Given the description of an element on the screen output the (x, y) to click on. 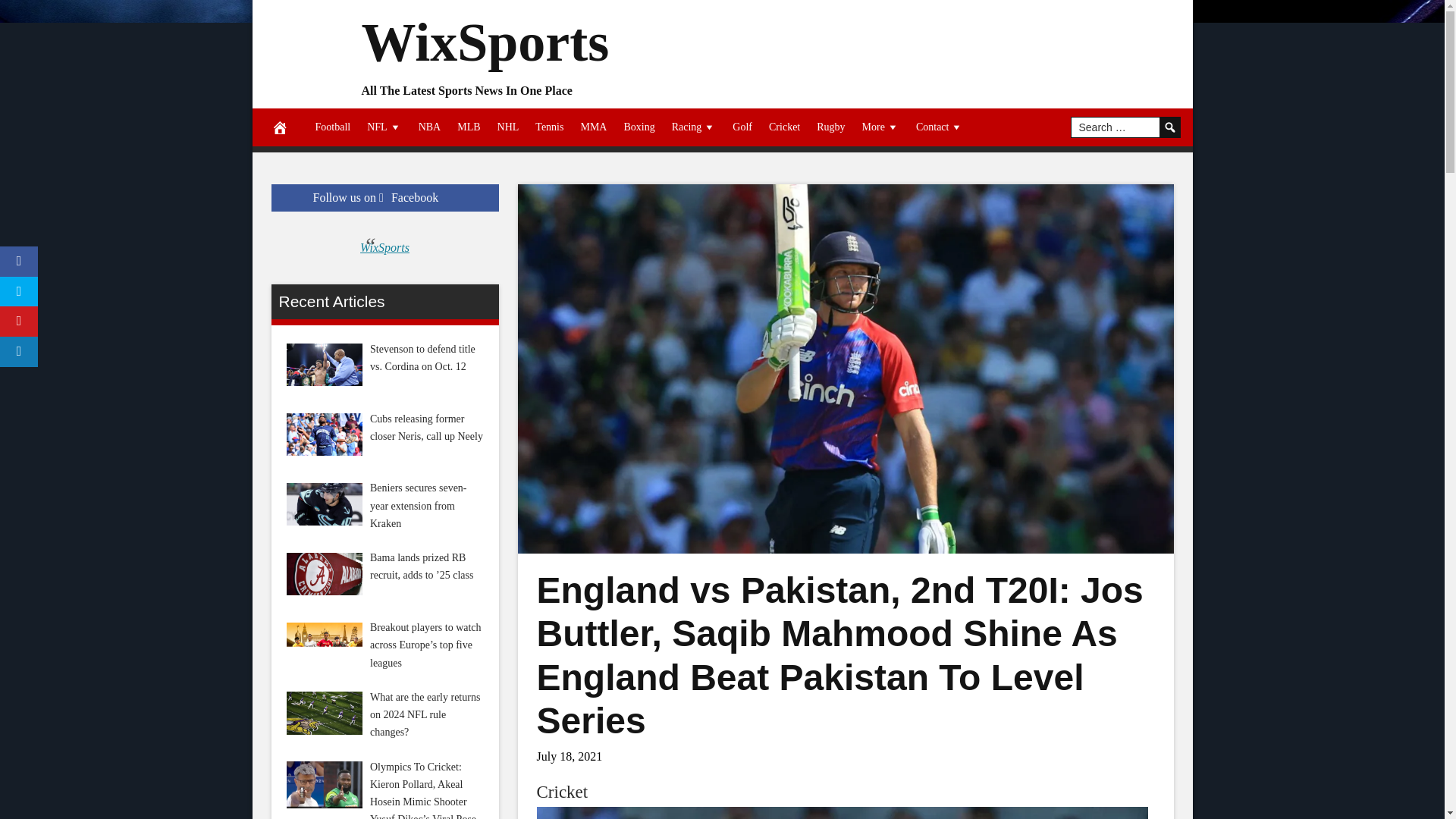
Football (331, 127)
NBA (429, 127)
MLB (467, 127)
NHL (508, 127)
Cricket (562, 791)
Tennis (549, 127)
NFL (383, 127)
WixSports (484, 42)
